Given the description of an element on the screen output the (x, y) to click on. 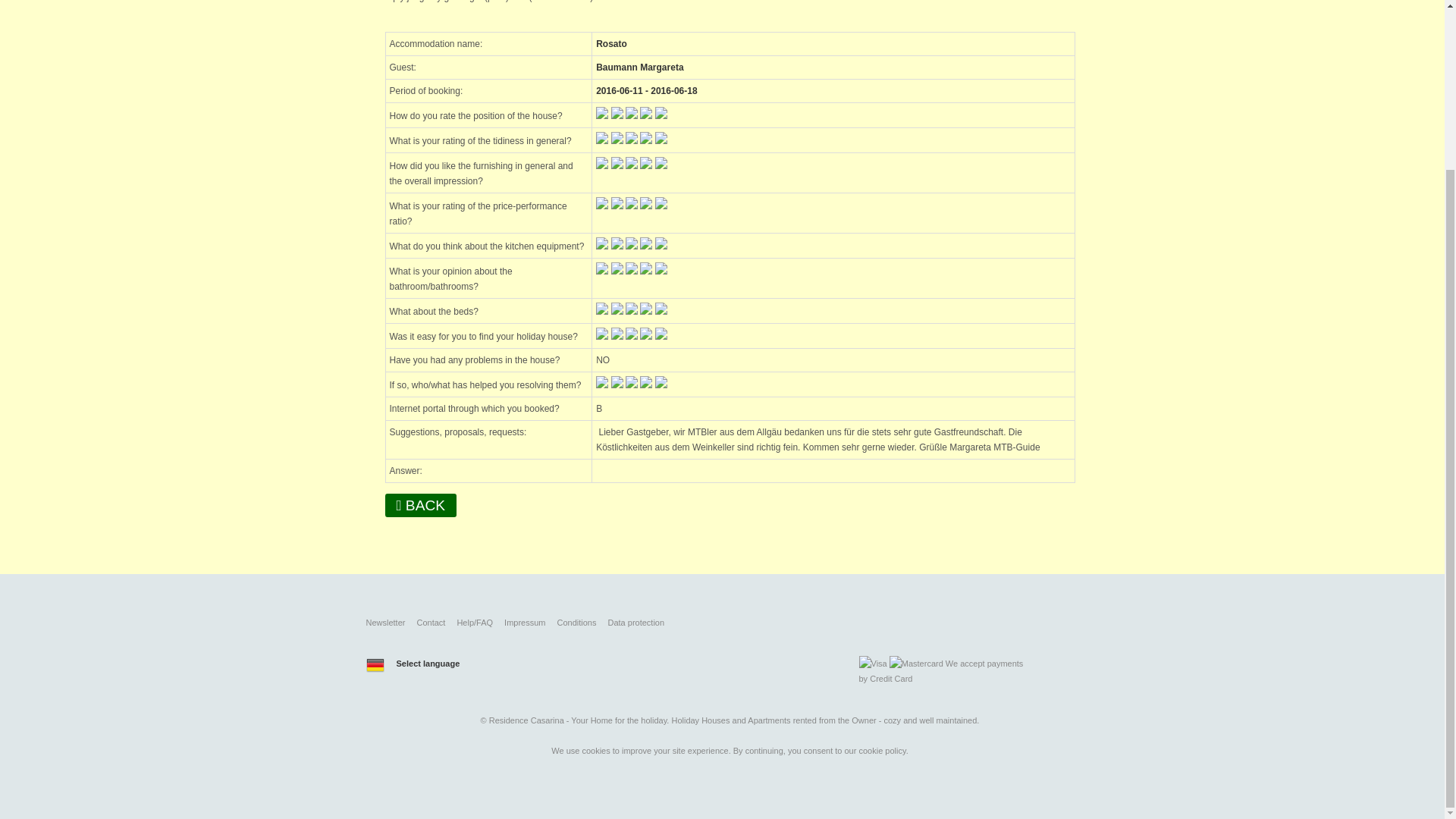
Impressum (523, 622)
cookie policy (882, 750)
Contact (430, 622)
Credit Card (890, 678)
Data protection (635, 622)
Conditions (575, 622)
BACK (421, 504)
Deutsch (374, 665)
Newsletter (384, 622)
